Given the description of an element on the screen output the (x, y) to click on. 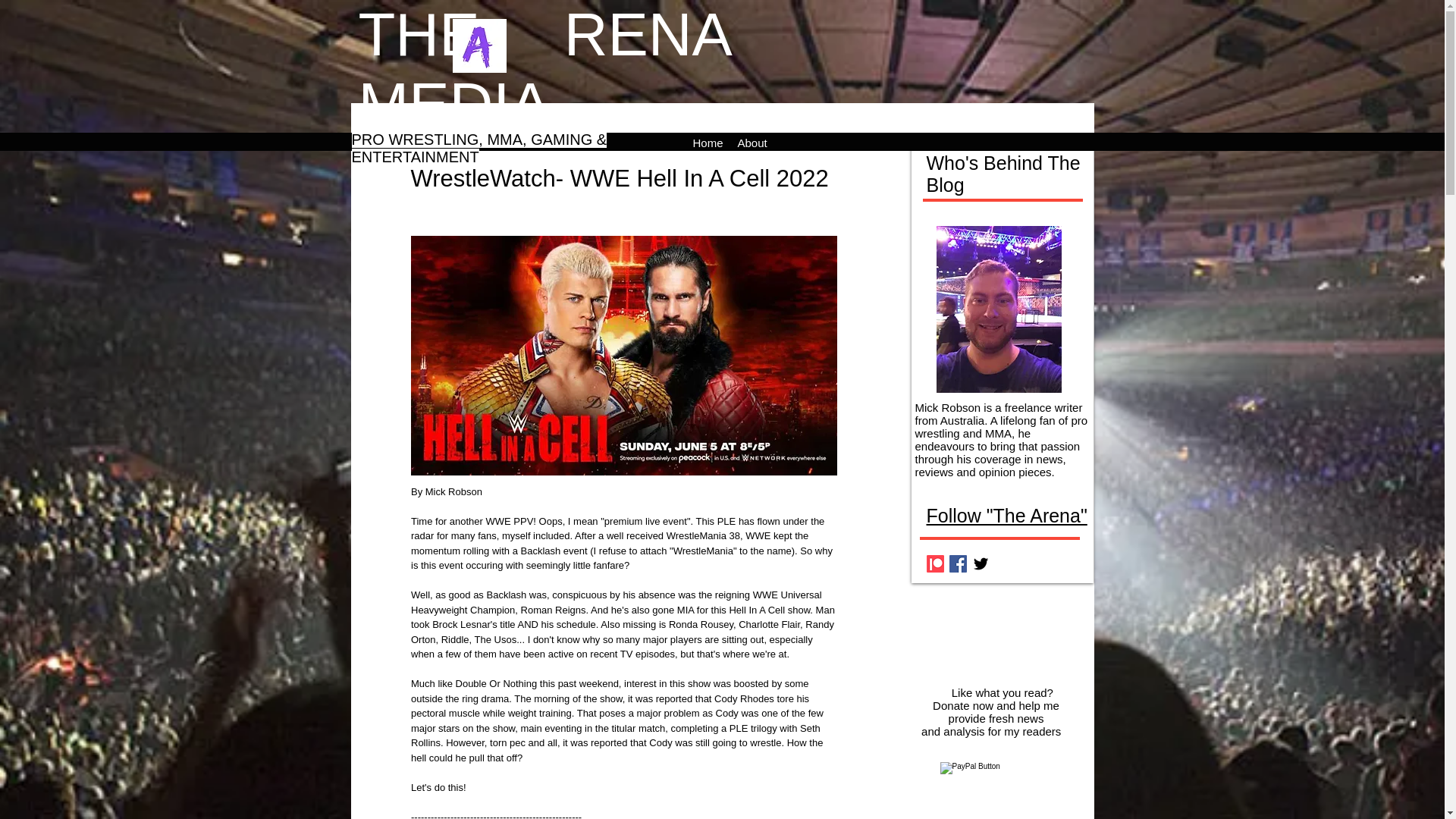
arena logo.jpg (478, 45)
Home (707, 141)
About (751, 141)
THE     RENA MEDIA (543, 69)
Follow "The Arena" (1006, 515)
